Given the description of an element on the screen output the (x, y) to click on. 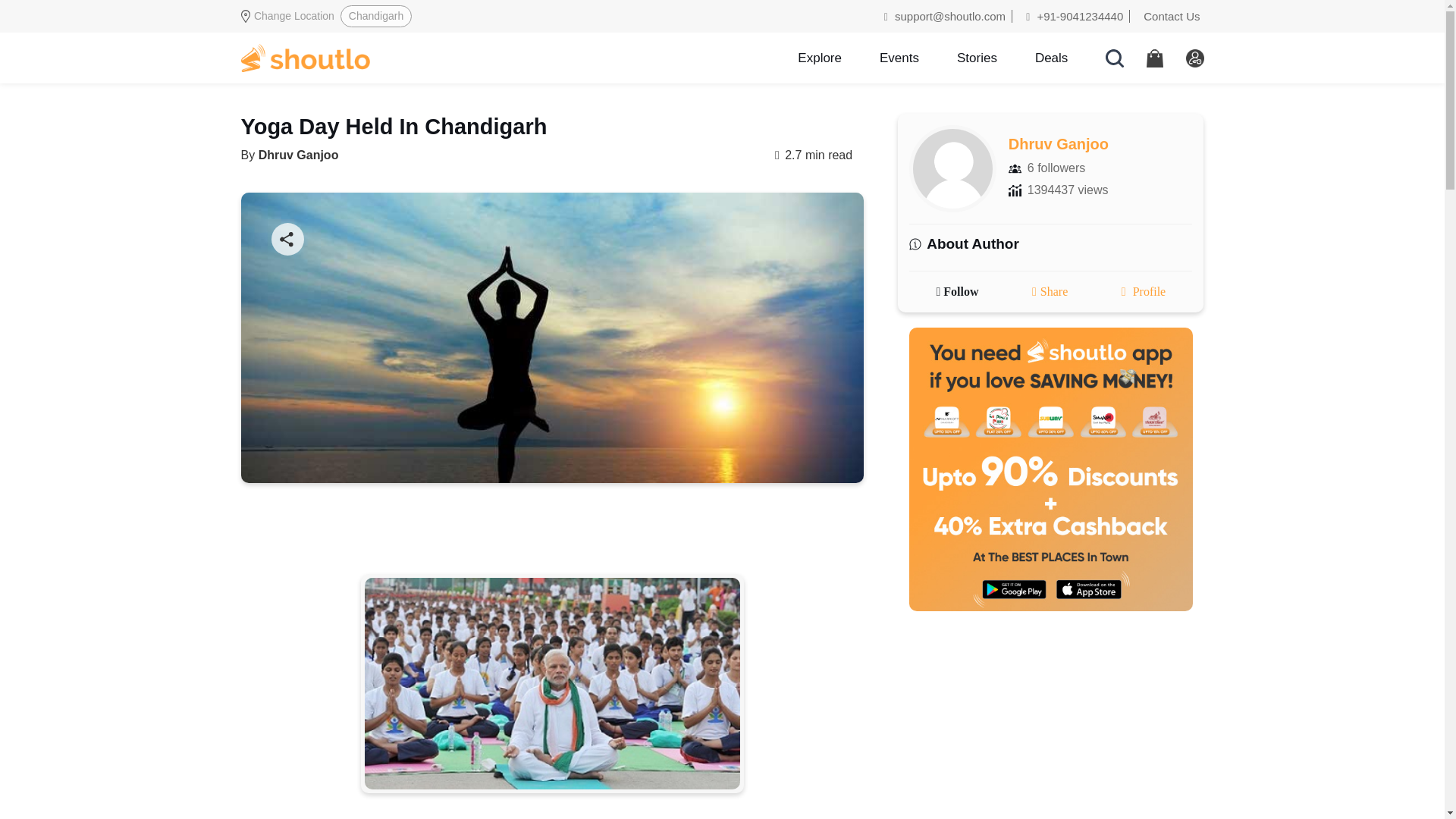
Stories (977, 57)
Deals (1050, 57)
Explore (819, 57)
Events (899, 57)
Contact Us (1168, 15)
